Given the description of an element on the screen output the (x, y) to click on. 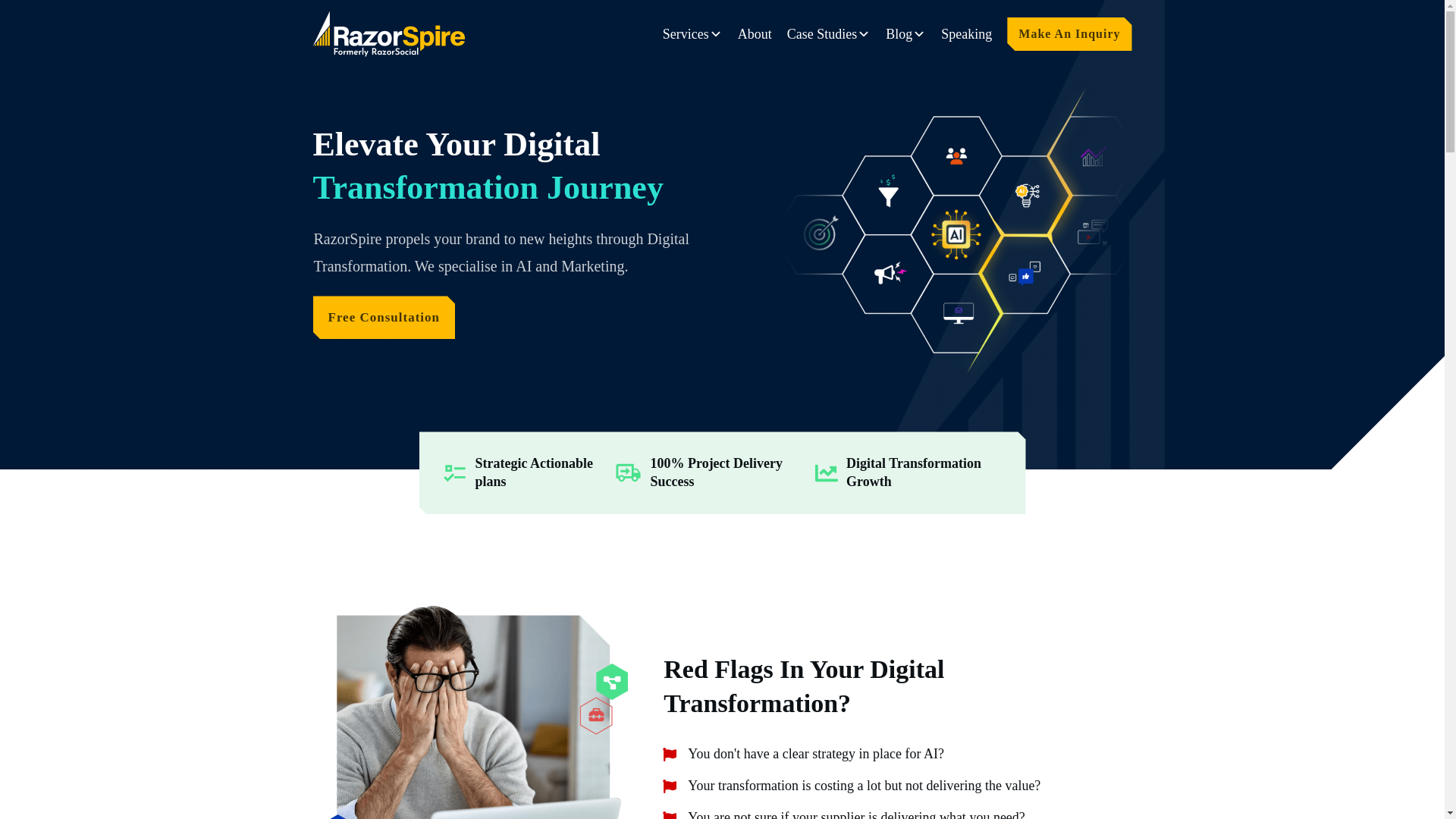
Blog (905, 34)
img-home-hero-v3 (954, 230)
Free Consultation (383, 317)
Speaking (965, 34)
Services (692, 34)
Case Studies (828, 34)
Make An Inquiry (1068, 34)
About (754, 34)
